Given the description of an element on the screen output the (x, y) to click on. 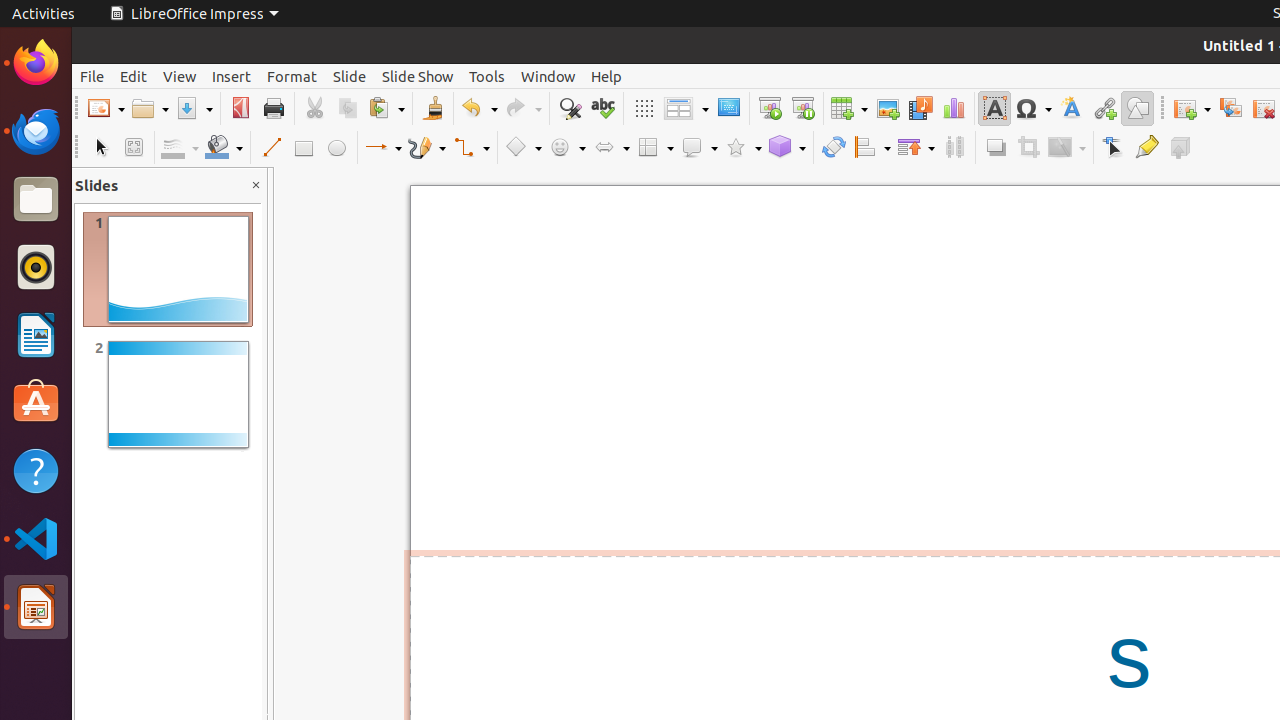
Start from First Slide Element type: push-button (769, 108)
Arrow Shapes Element type: push-button (611, 147)
Window Element type: menu (548, 76)
Distribution Element type: push-button (954, 147)
Save Element type: push-button (194, 108)
